Given the description of an element on the screen output the (x, y) to click on. 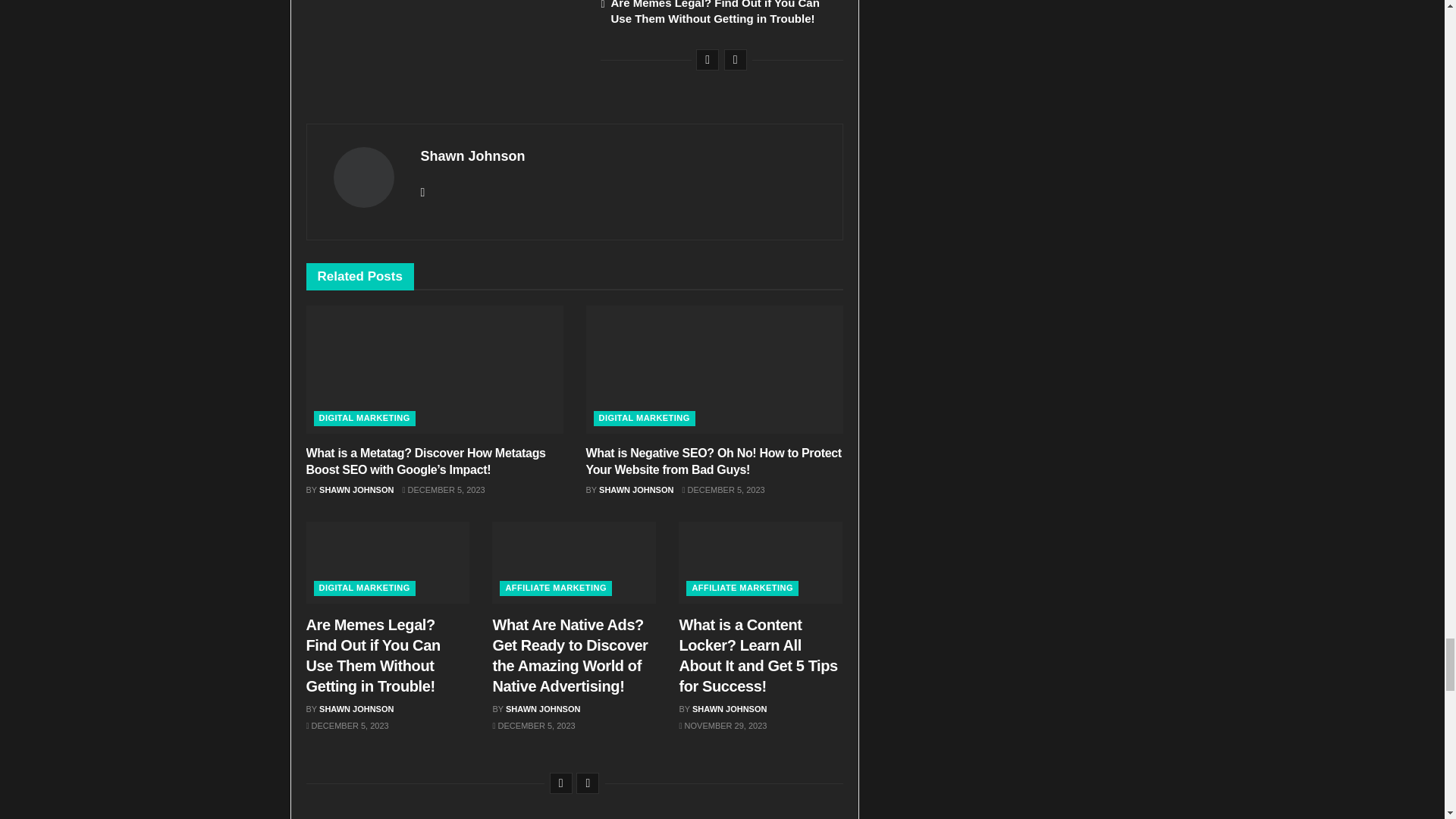
Previous (561, 783)
Next (734, 59)
Next (587, 783)
Previous (707, 59)
